Given the description of an element on the screen output the (x, y) to click on. 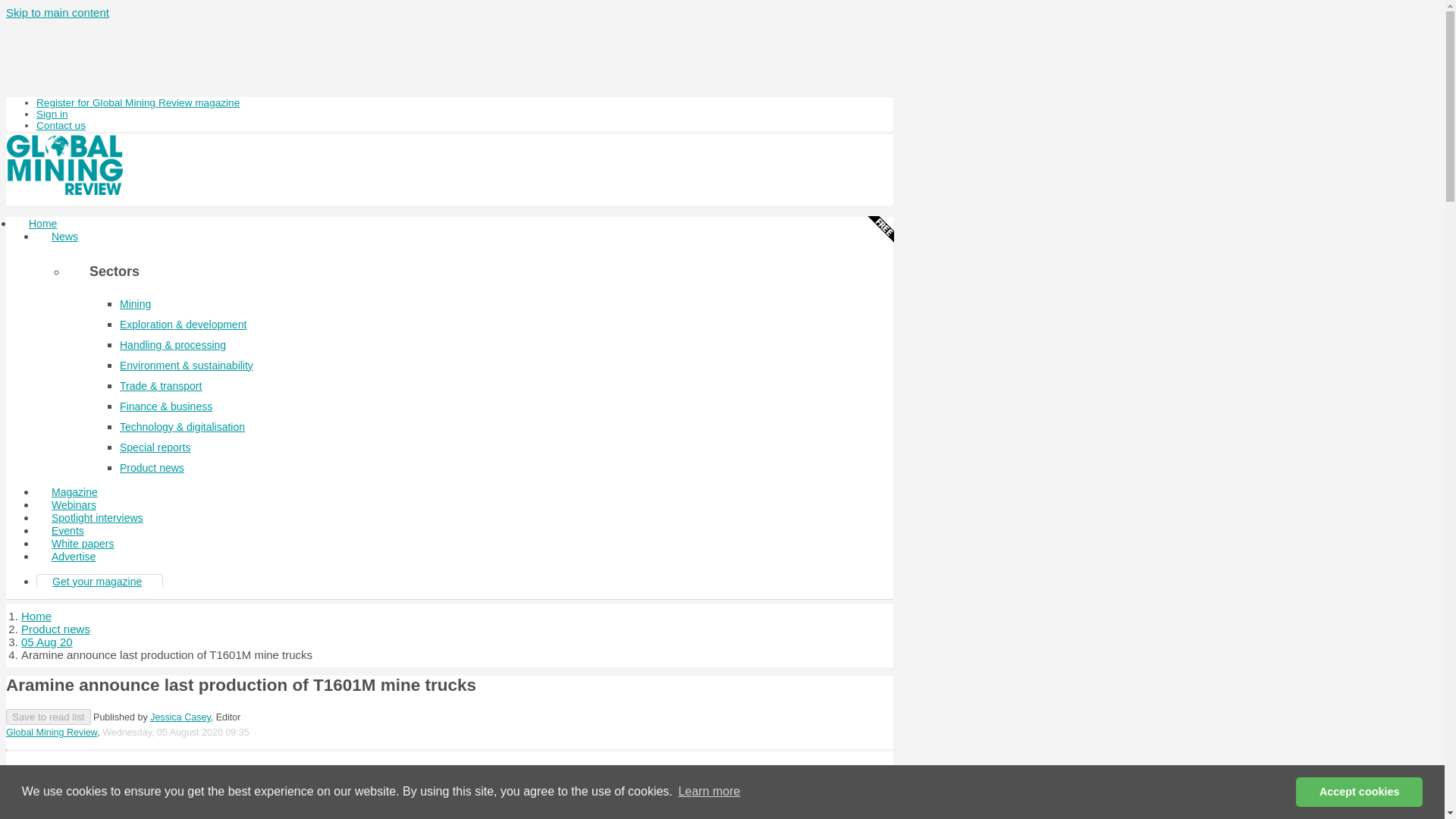
Advertise (73, 556)
Sign in (52, 113)
News (64, 236)
Global Mining Review (51, 732)
Contact us (60, 125)
Register for your magazine (138, 102)
3rd party ad content (449, 789)
Get your magazine (97, 581)
Events (67, 530)
Webinars (74, 504)
Contact us (60, 125)
Skip to main content (57, 11)
Jessica Casey (180, 716)
White papers (82, 543)
05 Aug 20 (46, 641)
